Given the description of an element on the screen output the (x, y) to click on. 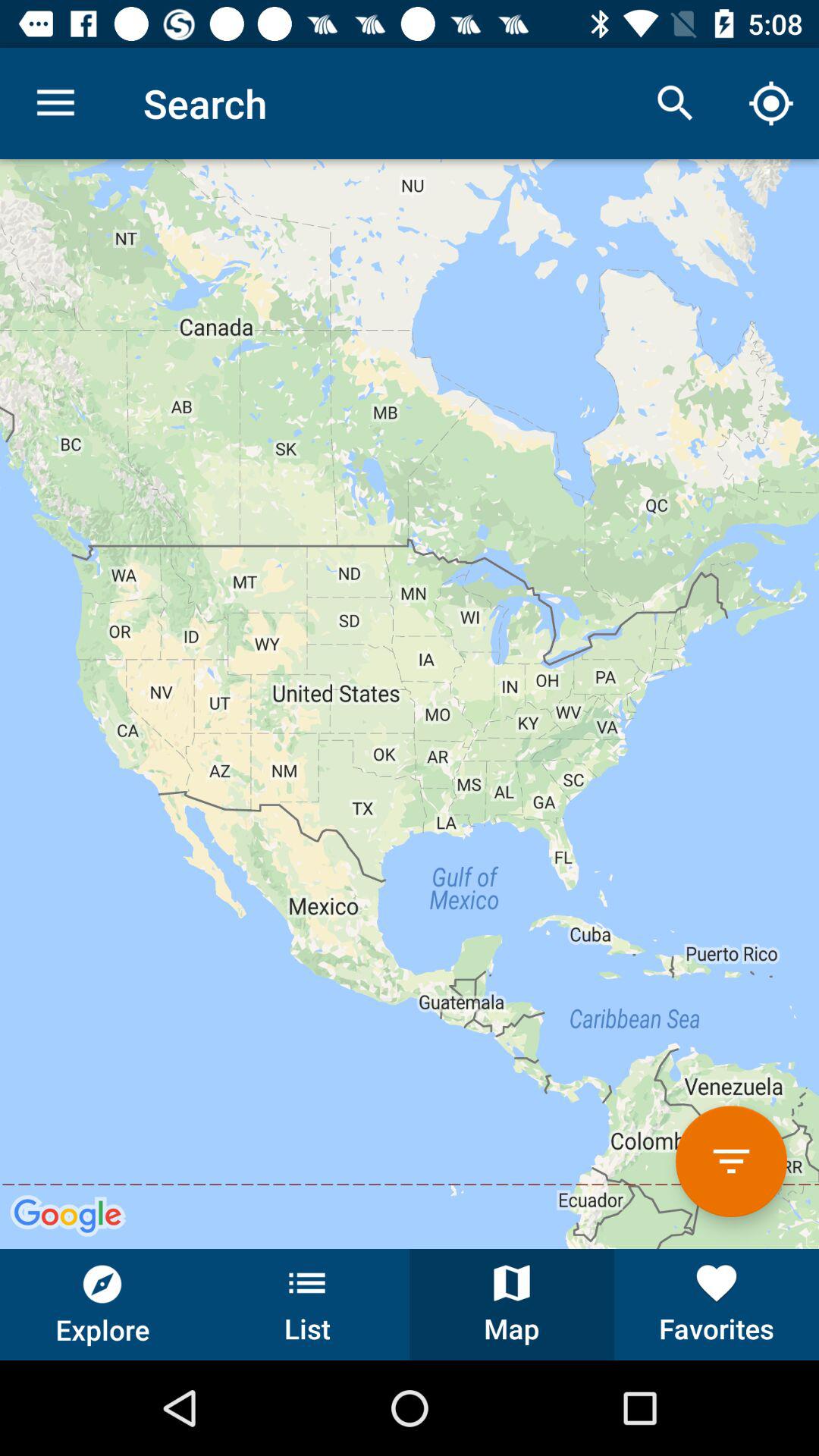
turn off favorites icon (716, 1304)
